Given the description of an element on the screen output the (x, y) to click on. 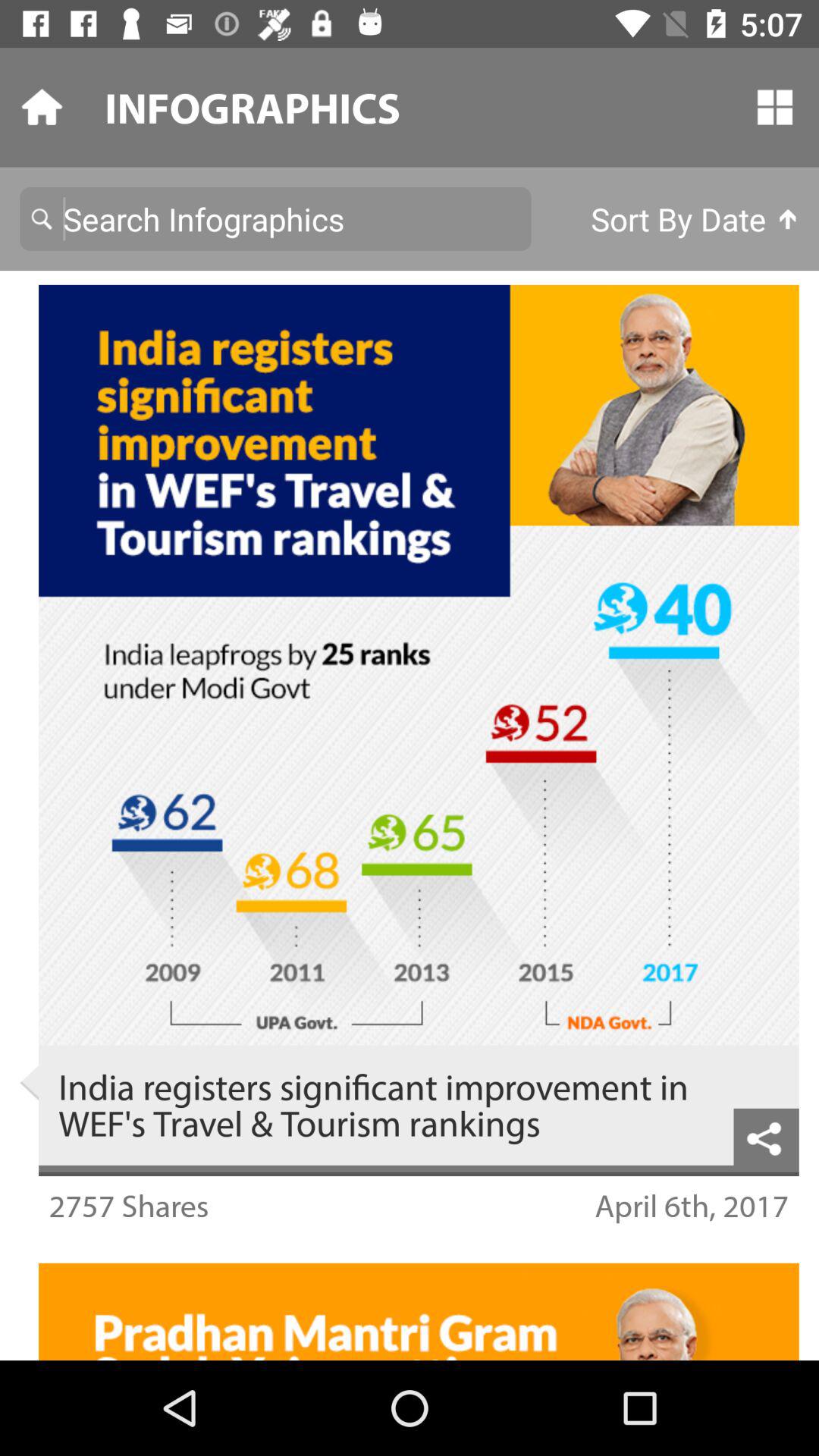
launch icon next to india registers significant icon (766, 1136)
